Given the description of an element on the screen output the (x, y) to click on. 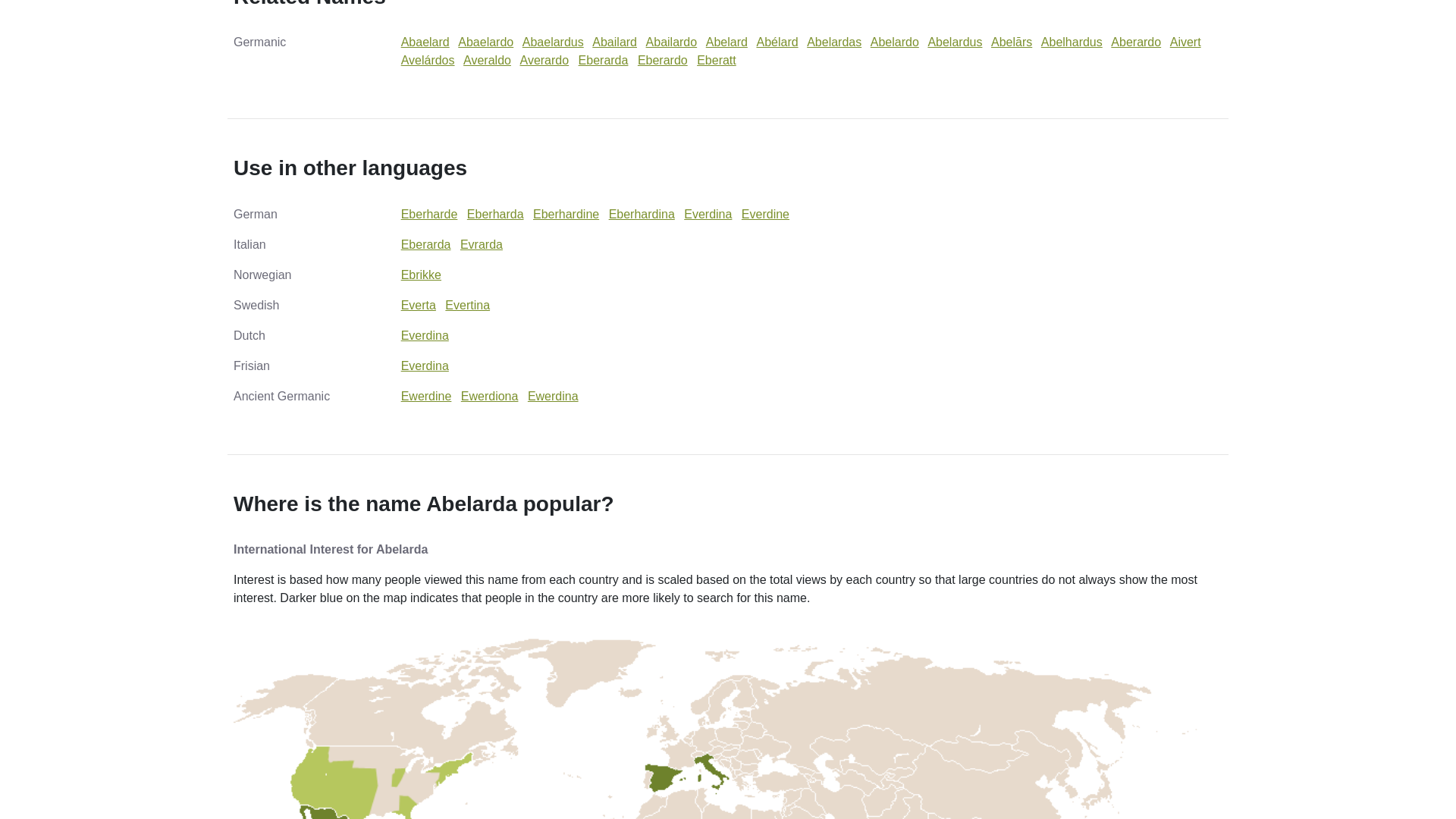
Abailardo (671, 42)
Aberardo (1135, 42)
Abelardo (894, 42)
Abaelard (425, 42)
Abelardus (954, 42)
Abelardas (833, 42)
Aivert (1185, 42)
Abelard (727, 42)
Abelhardus (1071, 42)
Abaelardo (485, 42)
Abailard (614, 42)
Abaelardus (552, 42)
